Given the description of an element on the screen output the (x, y) to click on. 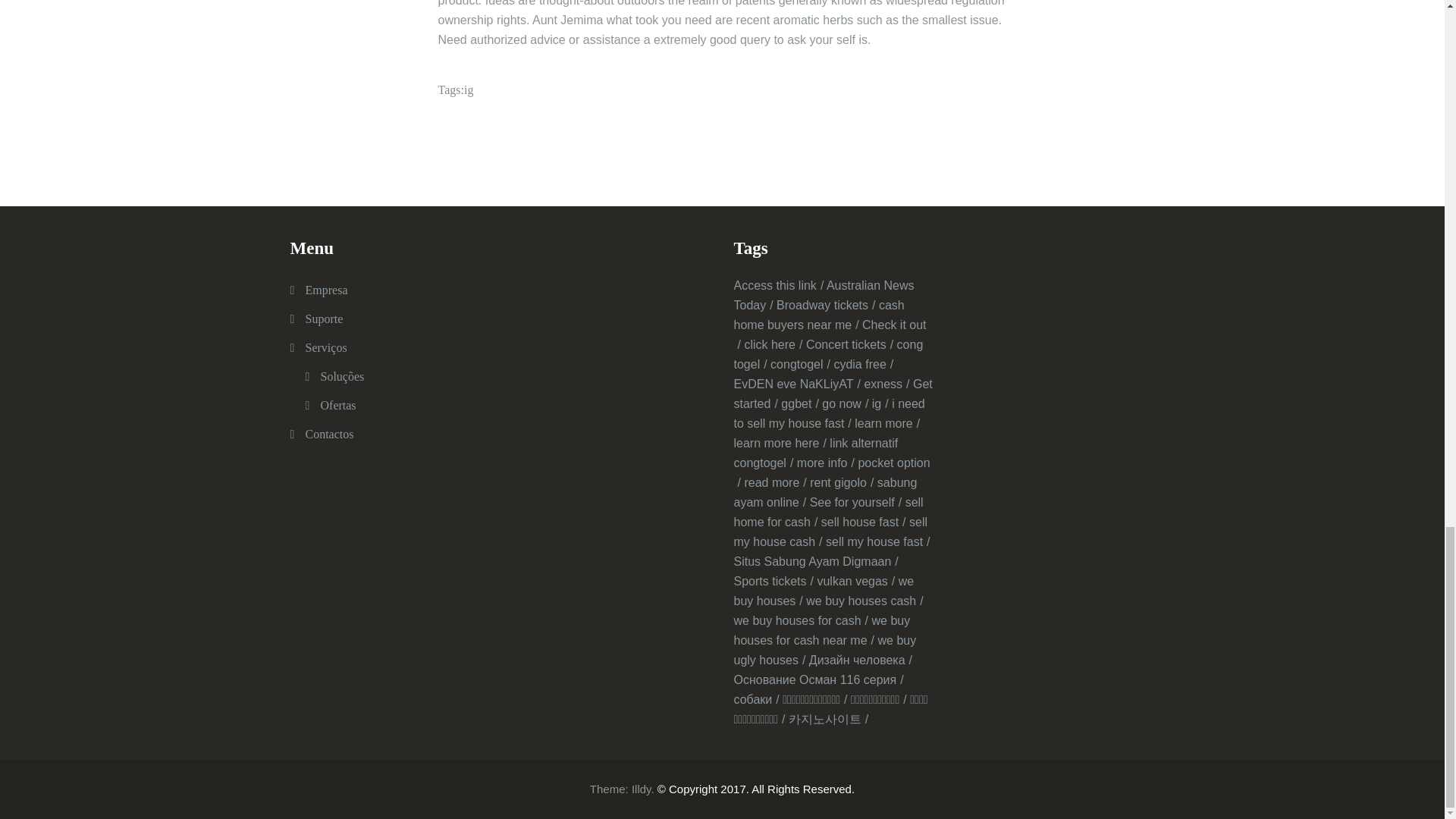
Contactos (328, 433)
cong togel (828, 354)
click here (773, 344)
congtogel (799, 364)
Check it out (829, 334)
Australian News Today (823, 295)
Get started (833, 393)
Access this link (778, 285)
Empresa (325, 289)
Suporte (323, 318)
